Given the description of an element on the screen output the (x, y) to click on. 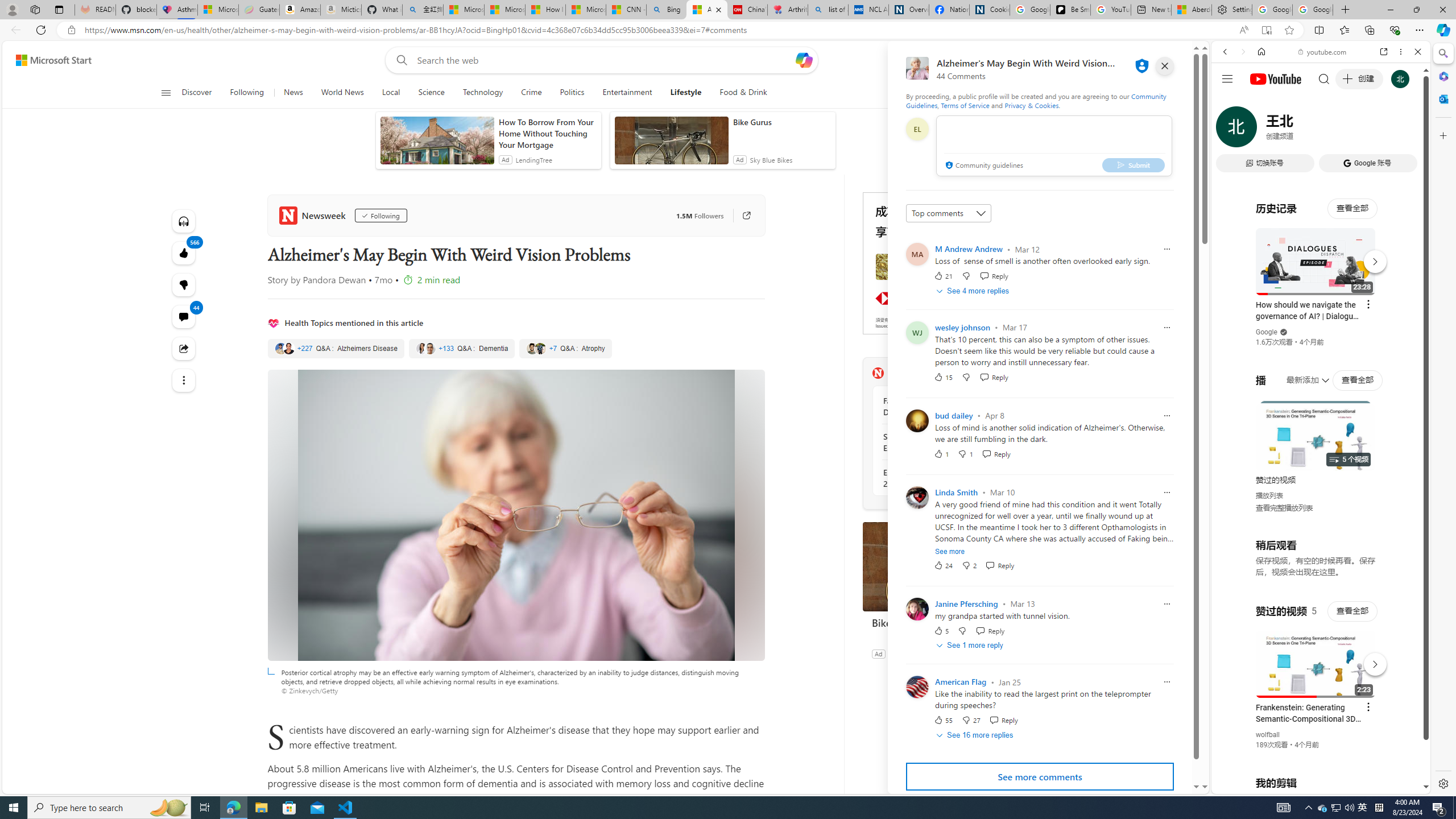
Ad Choice (1020, 653)
Music (1320, 309)
Following (246, 92)
Search Filter, VIDEOS (1300, 129)
Following (380, 215)
US[ju] (1249, 785)
Visit Newsweek website (1018, 372)
Dislike (970, 720)
Close (1417, 51)
